Given the description of an element on the screen output the (x, y) to click on. 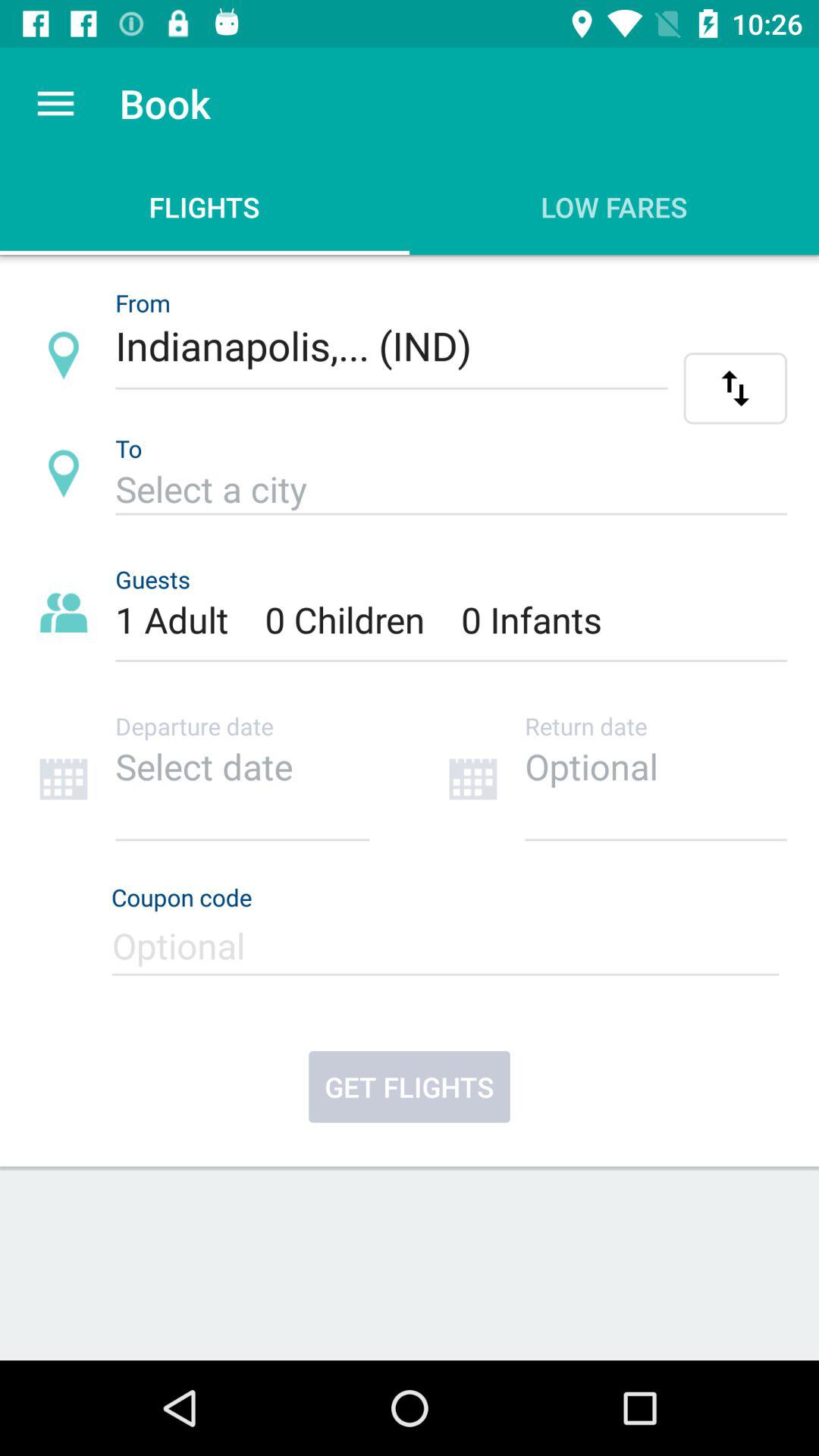
jump until get flights (409, 1086)
